Given the description of an element on the screen output the (x, y) to click on. 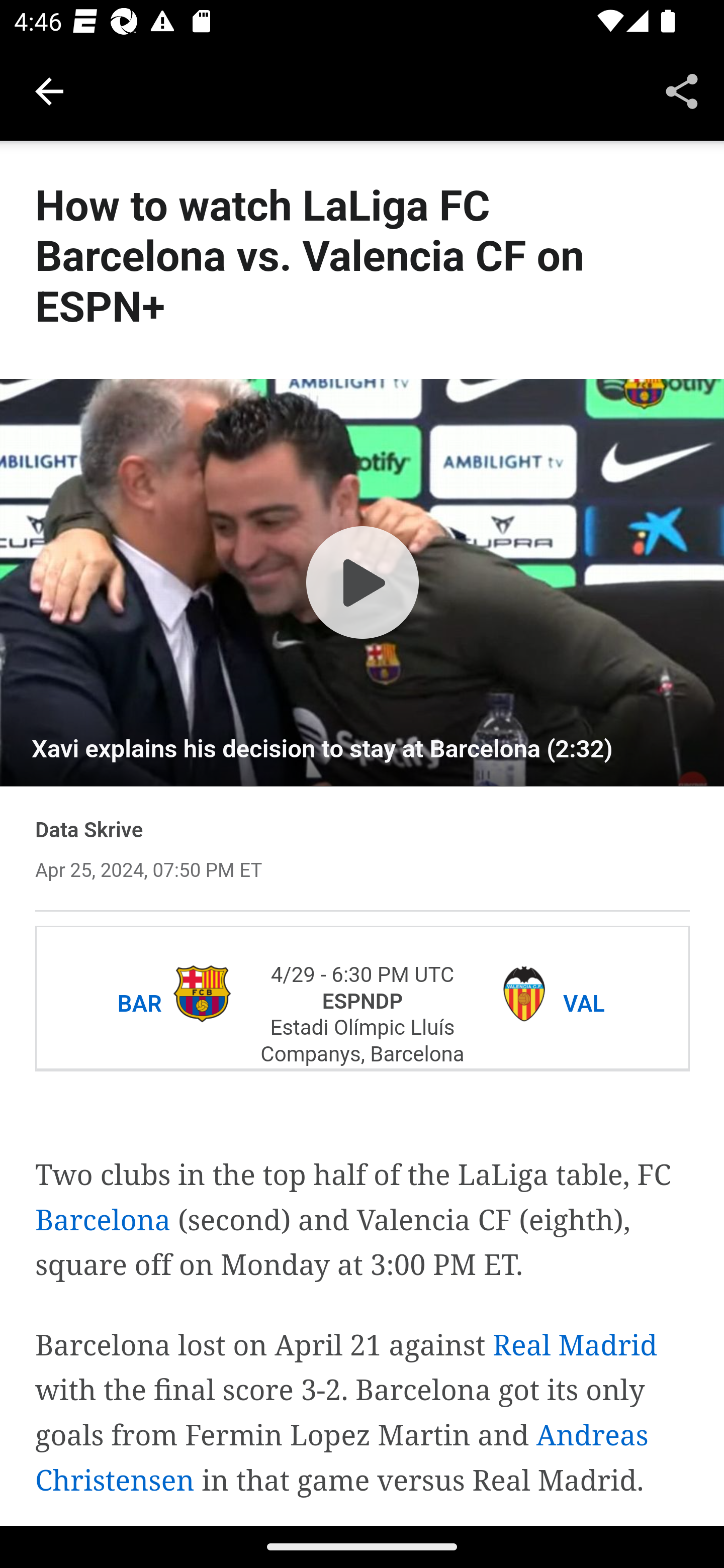
Navigate up (49, 91)
Share (681, 90)
